Given the description of an element on the screen output the (x, y) to click on. 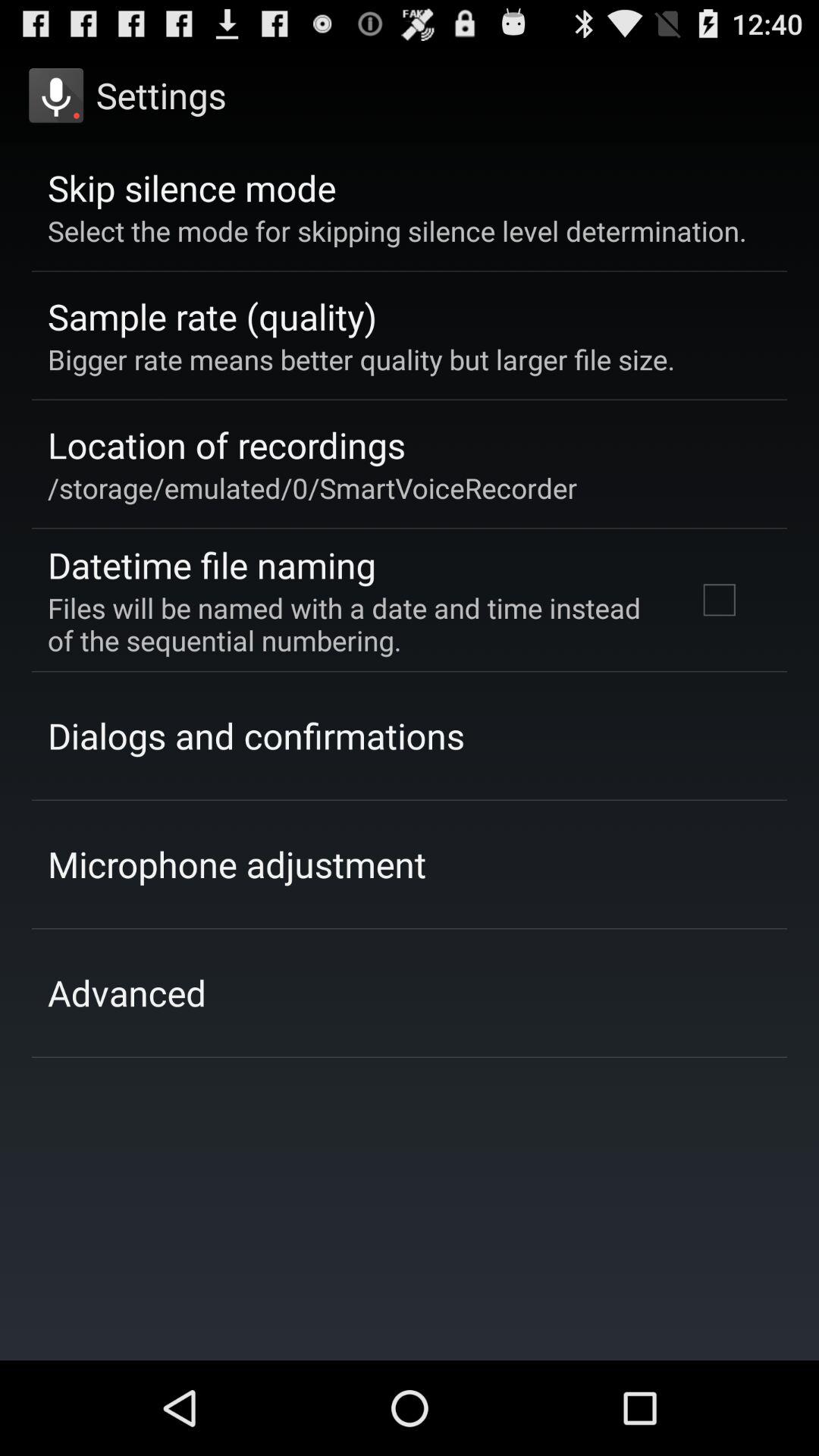
click item to the right of files will be icon (719, 599)
